Given the description of an element on the screen output the (x, y) to click on. 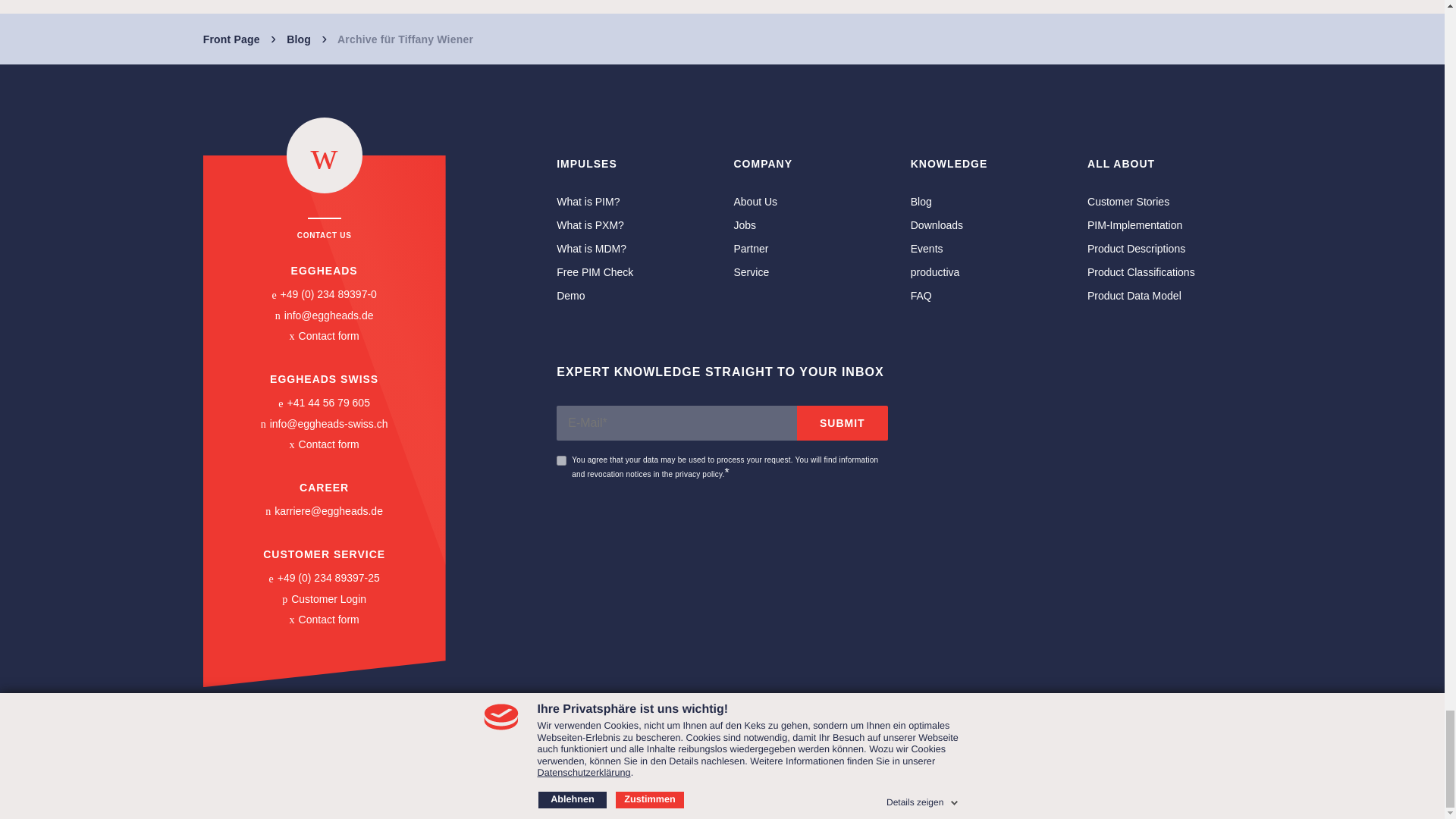
Submit (842, 422)
true (561, 460)
